Given the description of an element on the screen output the (x, y) to click on. 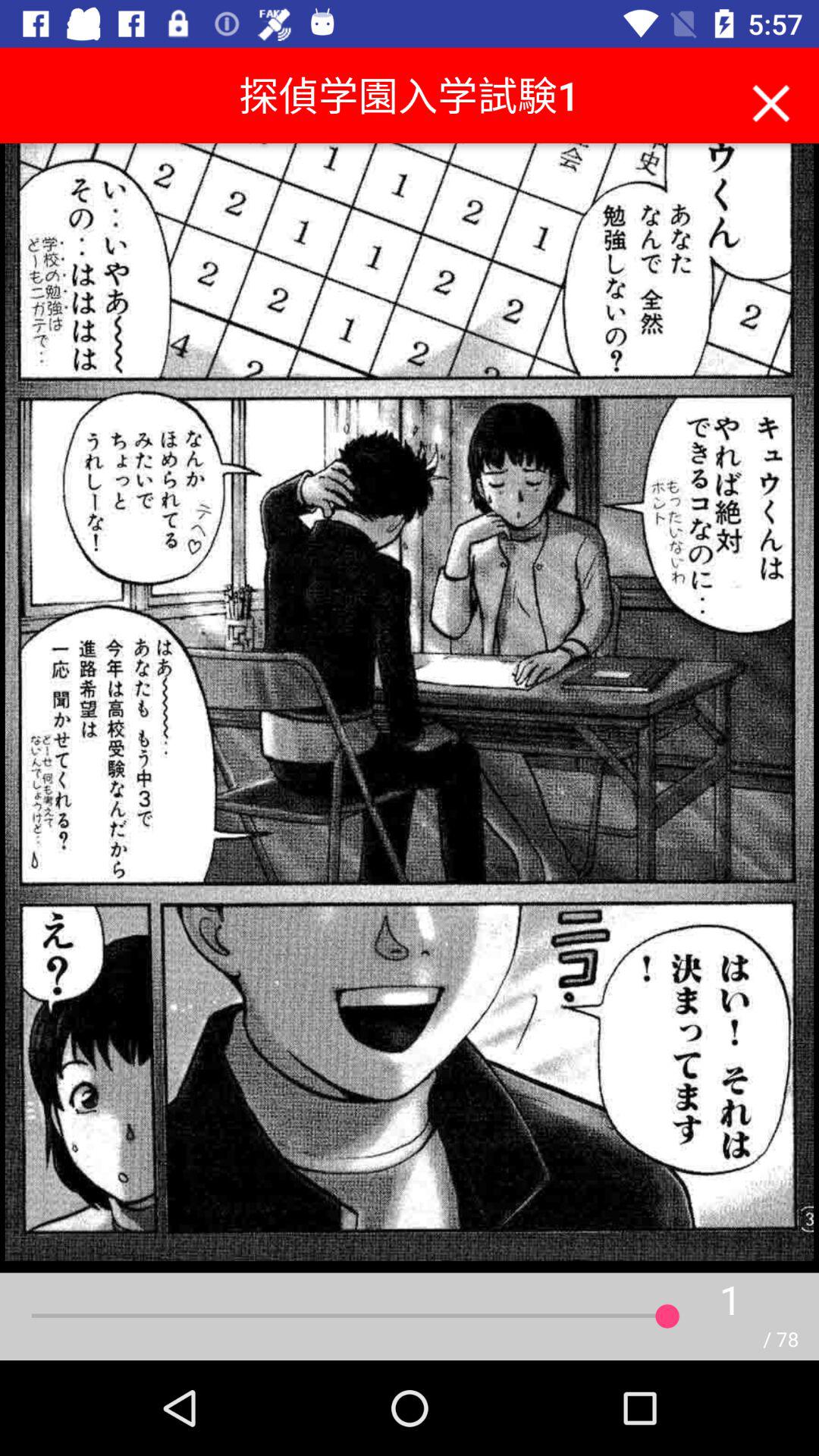
press icon at the top right corner (771, 99)
